Given the description of an element on the screen output the (x, y) to click on. 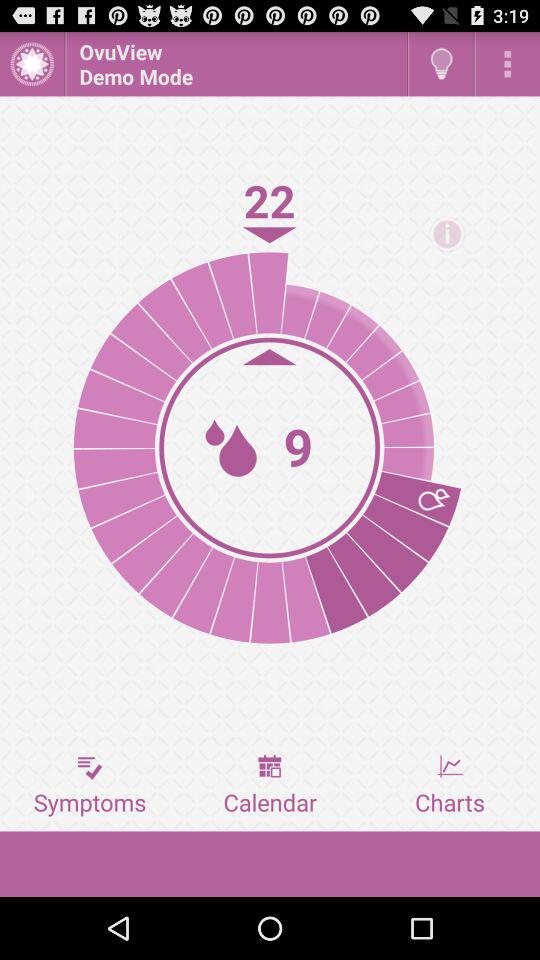
press the item next to calendar (90, 785)
